Given the description of an element on the screen output the (x, y) to click on. 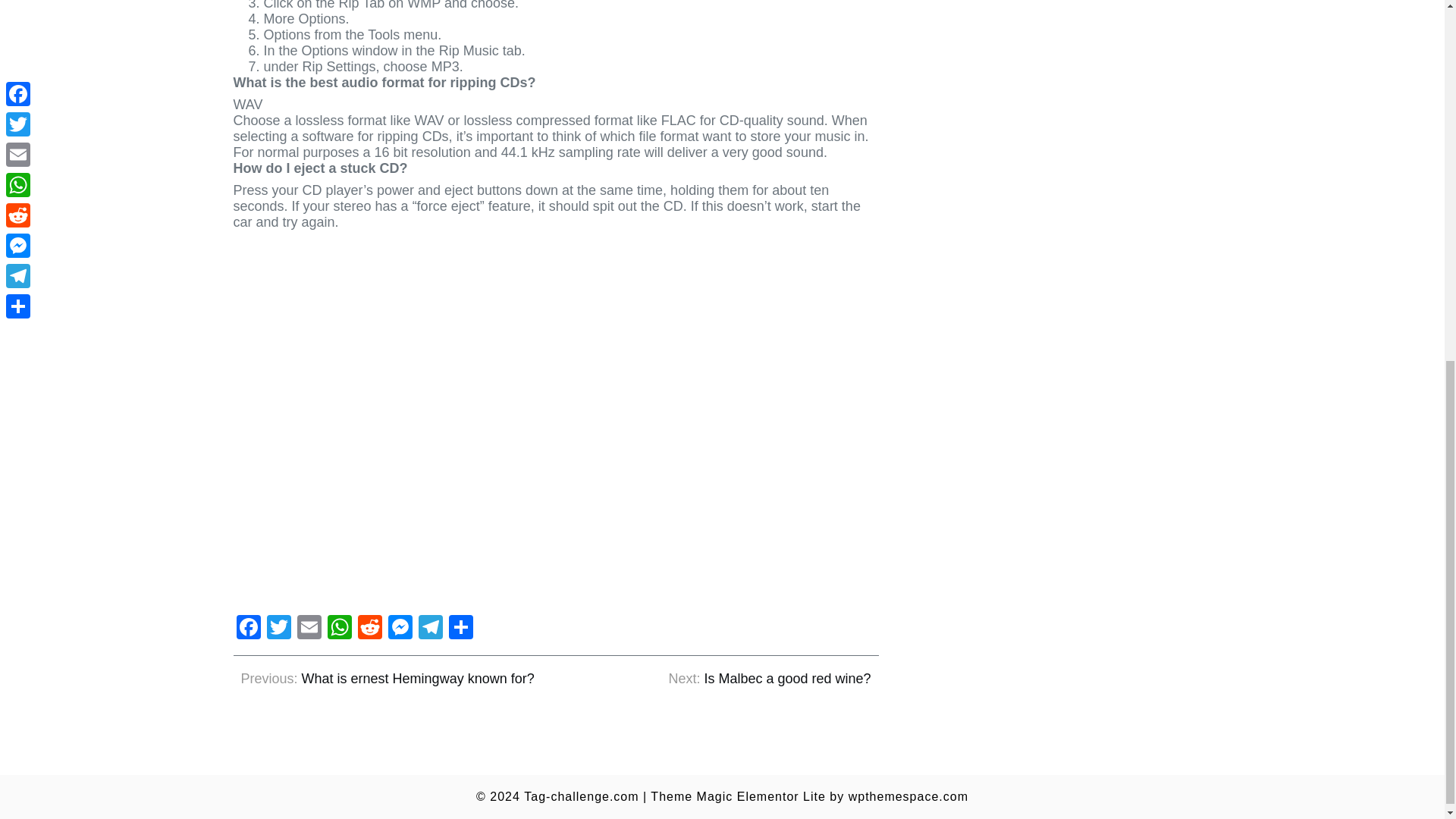
Previous: What is ernest Hemingway known for? (387, 678)
Email (309, 628)
Next: Is Malbec a good red wine? (769, 678)
Telegram (429, 628)
Messenger (399, 628)
WhatsApp (339, 628)
Twitter (278, 628)
Facebook (247, 628)
Reddit (370, 628)
